Given the description of an element on the screen output the (x, y) to click on. 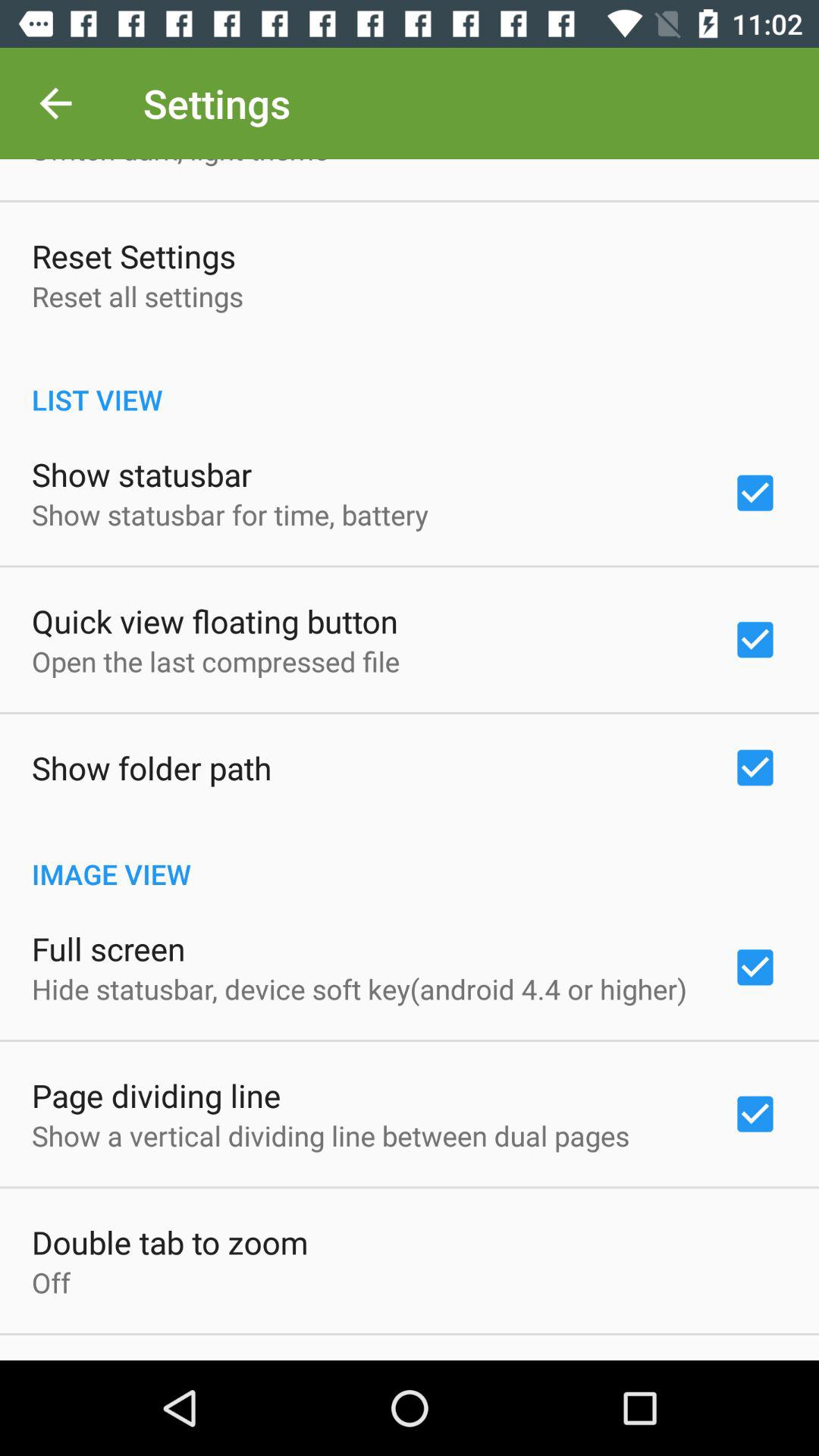
scroll until the list view icon (409, 383)
